Given the description of an element on the screen output the (x, y) to click on. 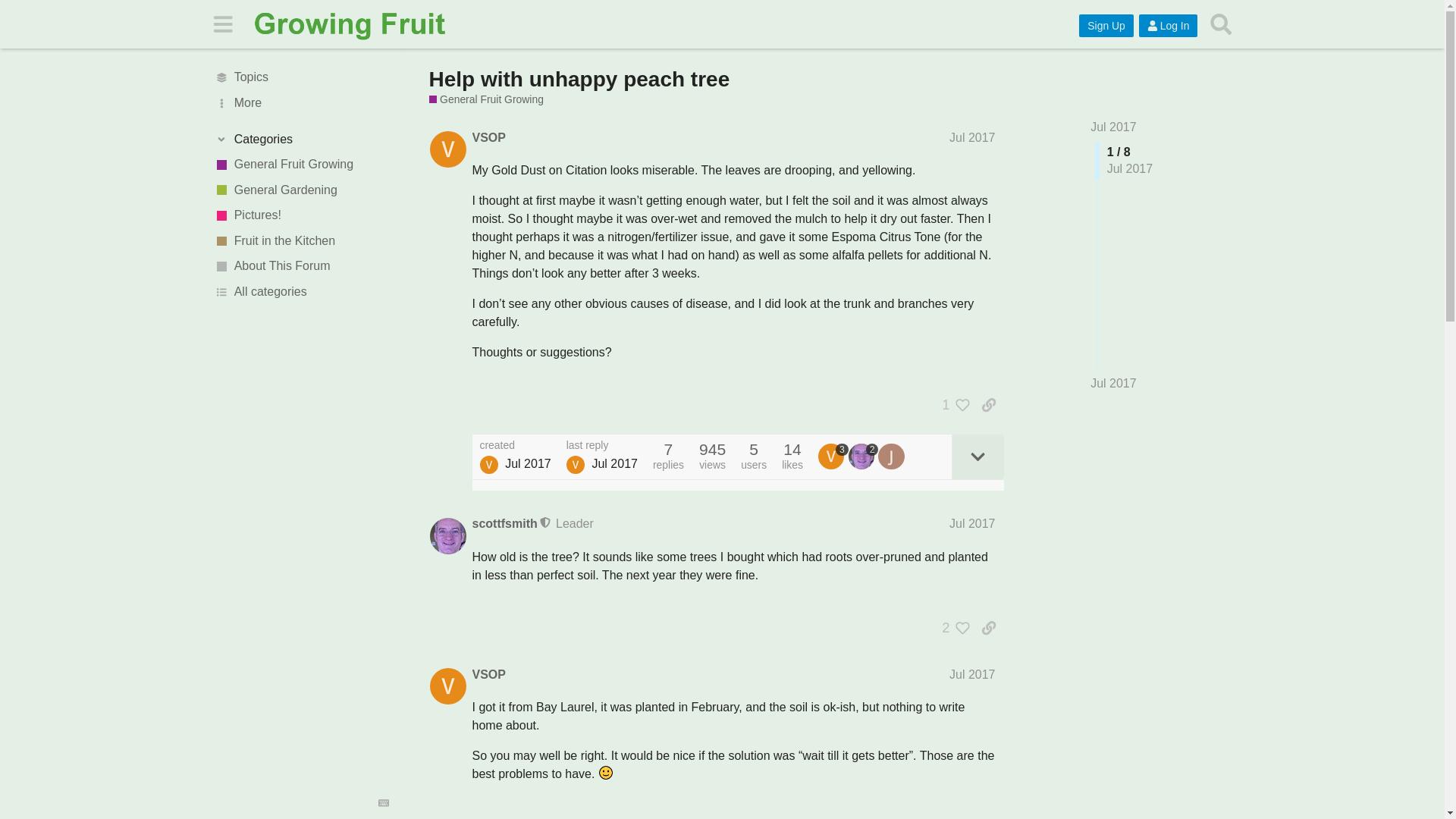
Jul 2017 (1113, 126)
More (301, 103)
About This Forum (301, 266)
Search (1220, 23)
All topics (301, 77)
Jul 2017 (972, 522)
All categories (301, 291)
Help with unhappy peach tree (579, 78)
Sidebar (222, 23)
Keyboard Shortcuts (384, 802)
Post date (972, 137)
Jump to the first post (1113, 126)
General Fruit Growing (486, 99)
Jul 2017 (1113, 383)
